Given the description of an element on the screen output the (x, y) to click on. 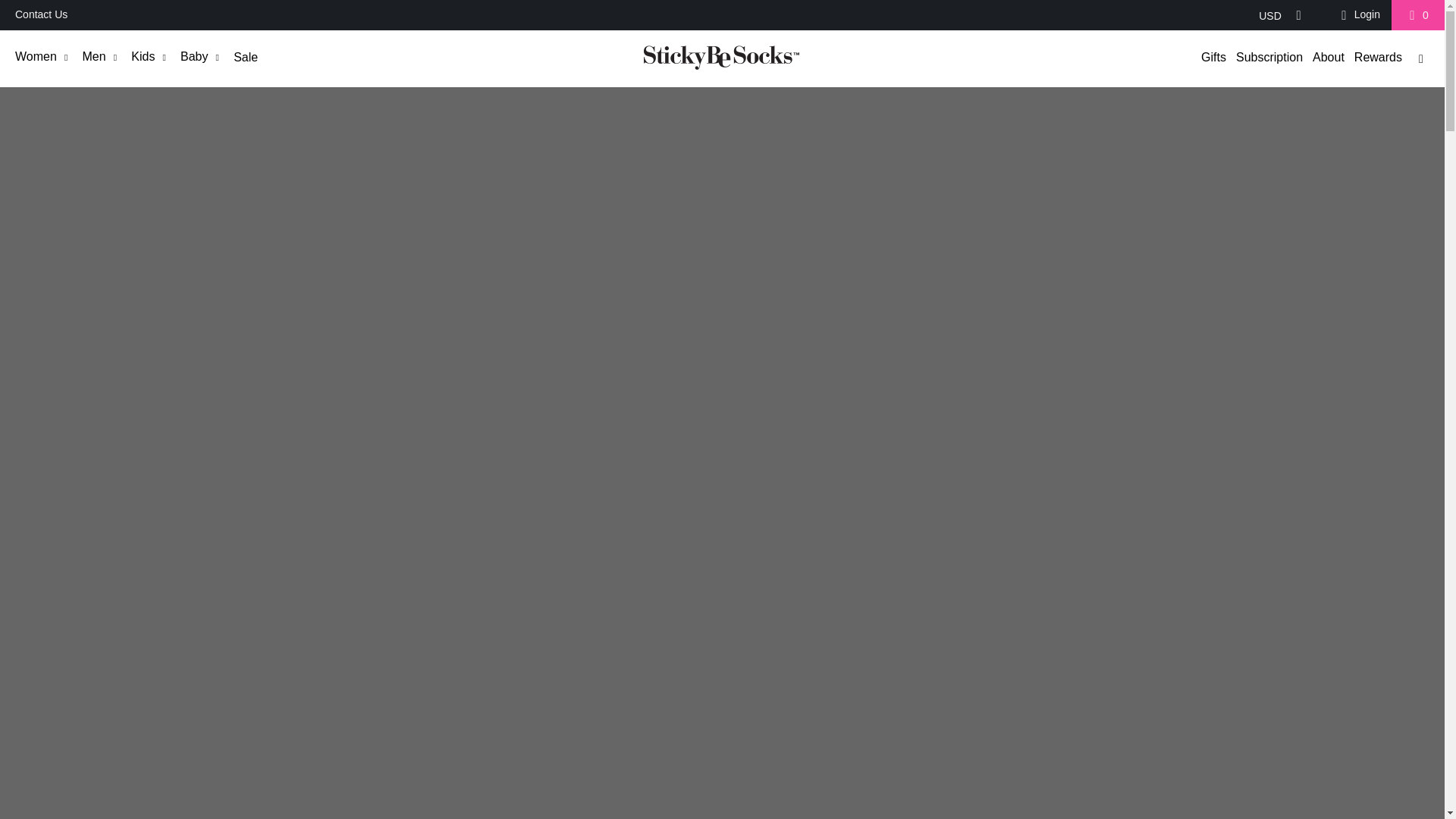
Search (1420, 57)
Sticky Be Socks (721, 58)
USD (1275, 15)
My Account  (1357, 14)
Contact Us (40, 14)
